Given the description of an element on the screen output the (x, y) to click on. 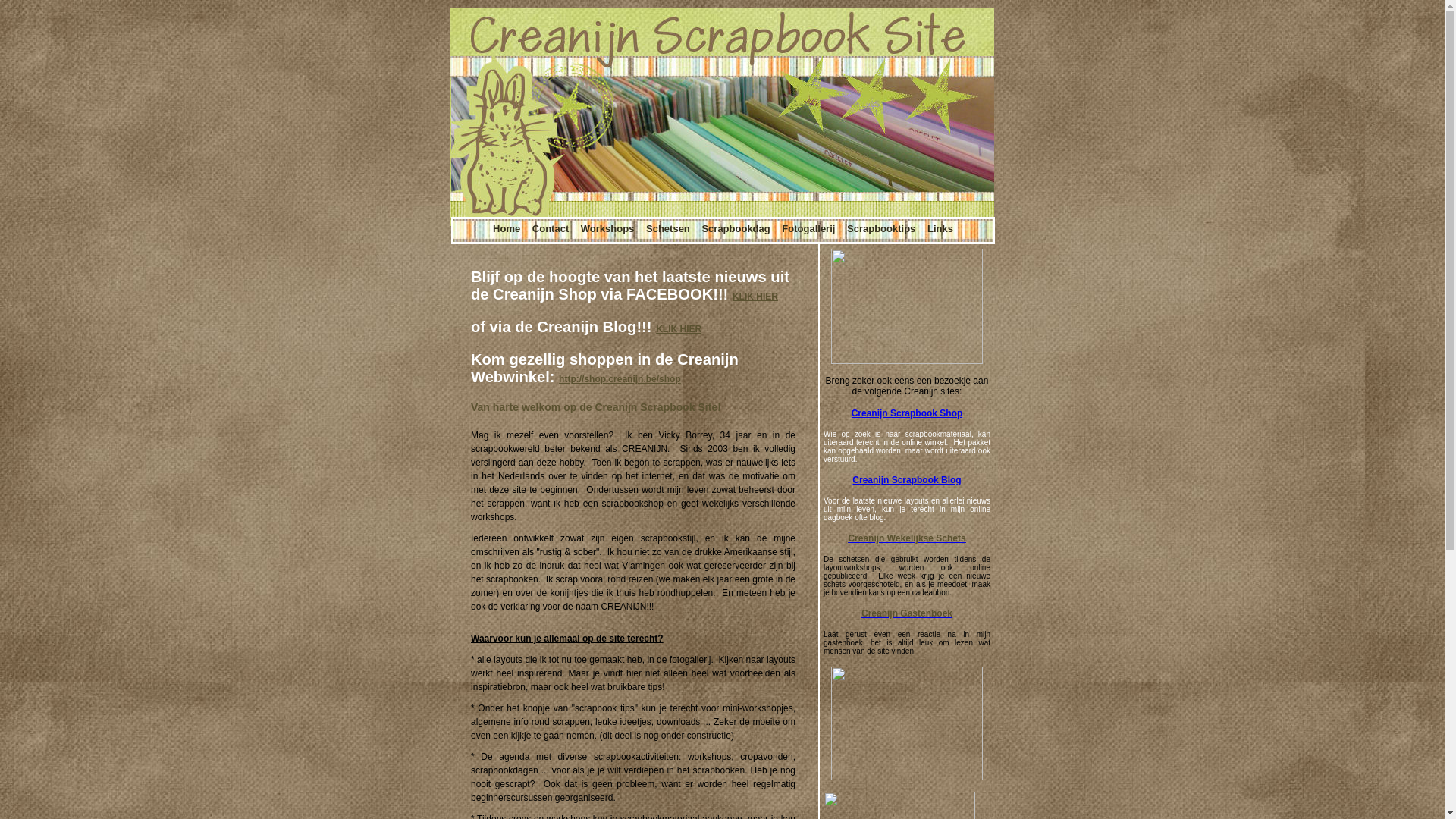
Fotogallerij Element type: text (809, 228)
Creanijn Scrapbook Blog Element type: text (906, 479)
Creanijn Wekelijkse Schets Element type: text (906, 538)
Scrapbooktips Element type: text (882, 228)
Home Element type: text (507, 228)
KLIK HIER Element type: text (755, 296)
http://shop.creanijn.be/shop Element type: text (619, 378)
Creanijn Scrapbook Shop Element type: text (907, 412)
Contact Element type: text (551, 228)
Workshops Element type: text (608, 228)
Links Element type: text (940, 228)
Creanijn Gastenboek Element type: text (906, 613)
Schetsen Element type: text (669, 228)
KLIK HIER Element type: text (678, 328)
Scrapbookdag Element type: text (736, 228)
